Given the description of an element on the screen output the (x, y) to click on. 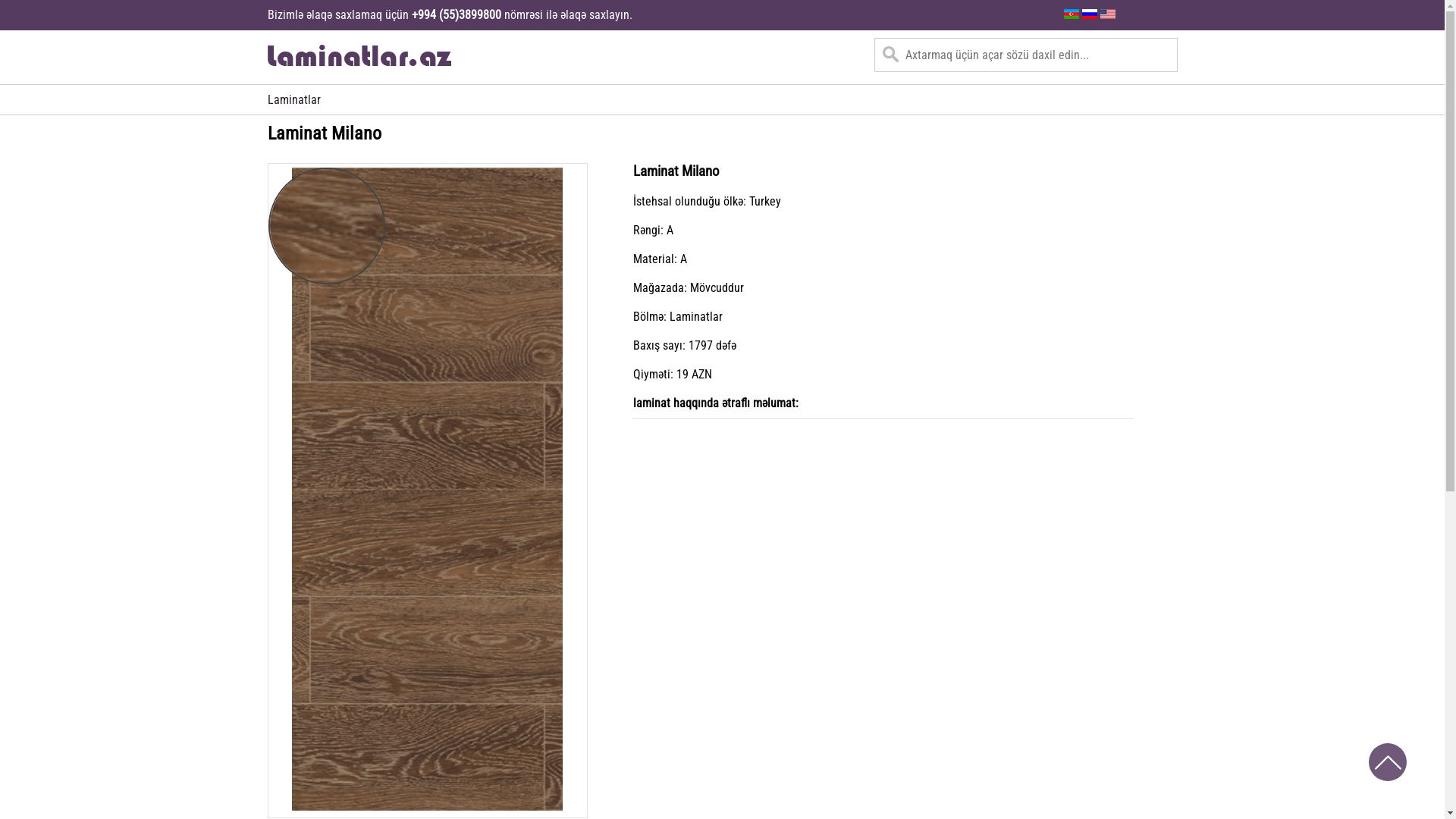
Laminatlar Element type: text (293, 99)
